Given the description of an element on the screen output the (x, y) to click on. 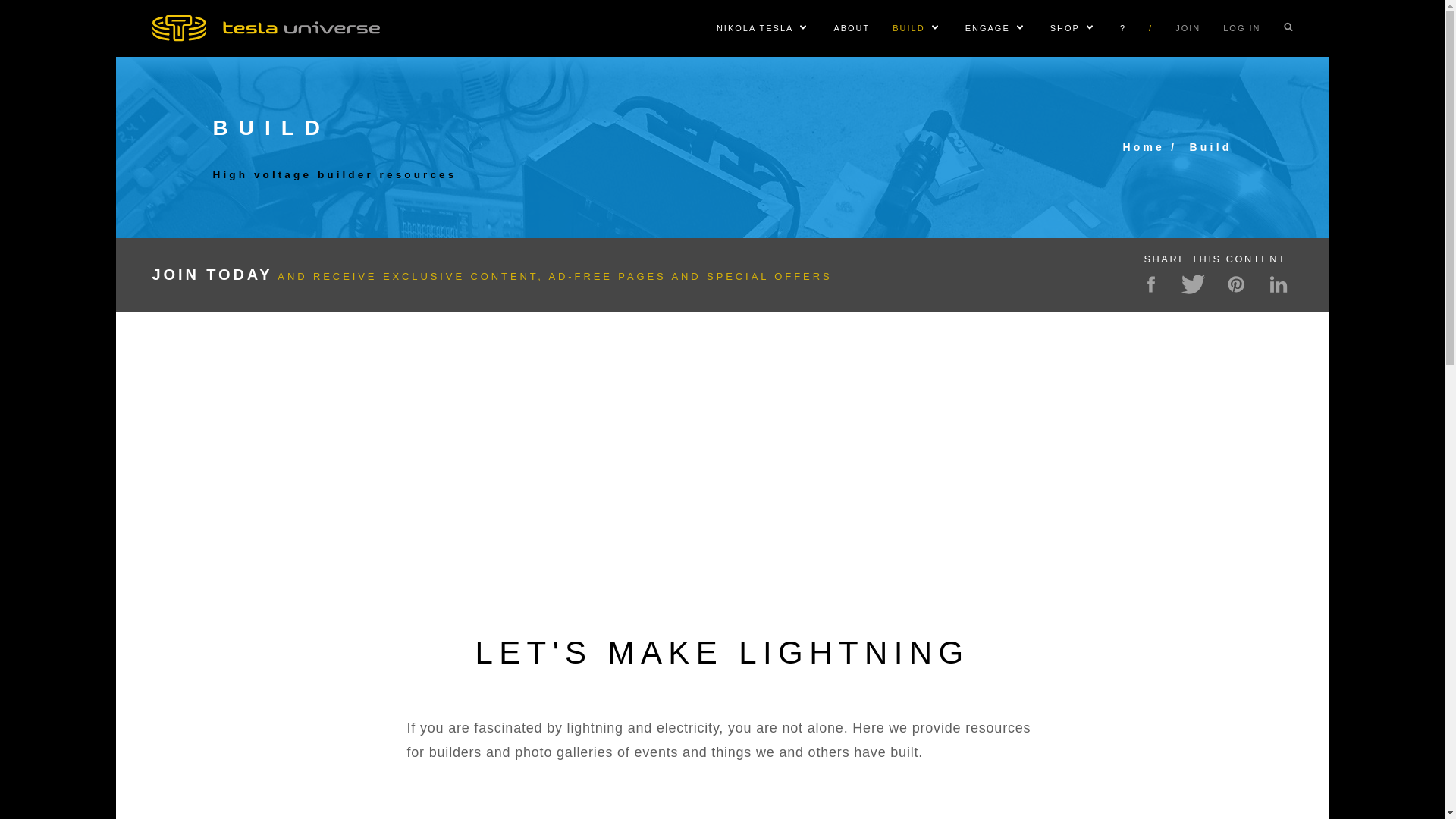
NIKOLA TESLA (754, 28)
